Given the description of an element on the screen output the (x, y) to click on. 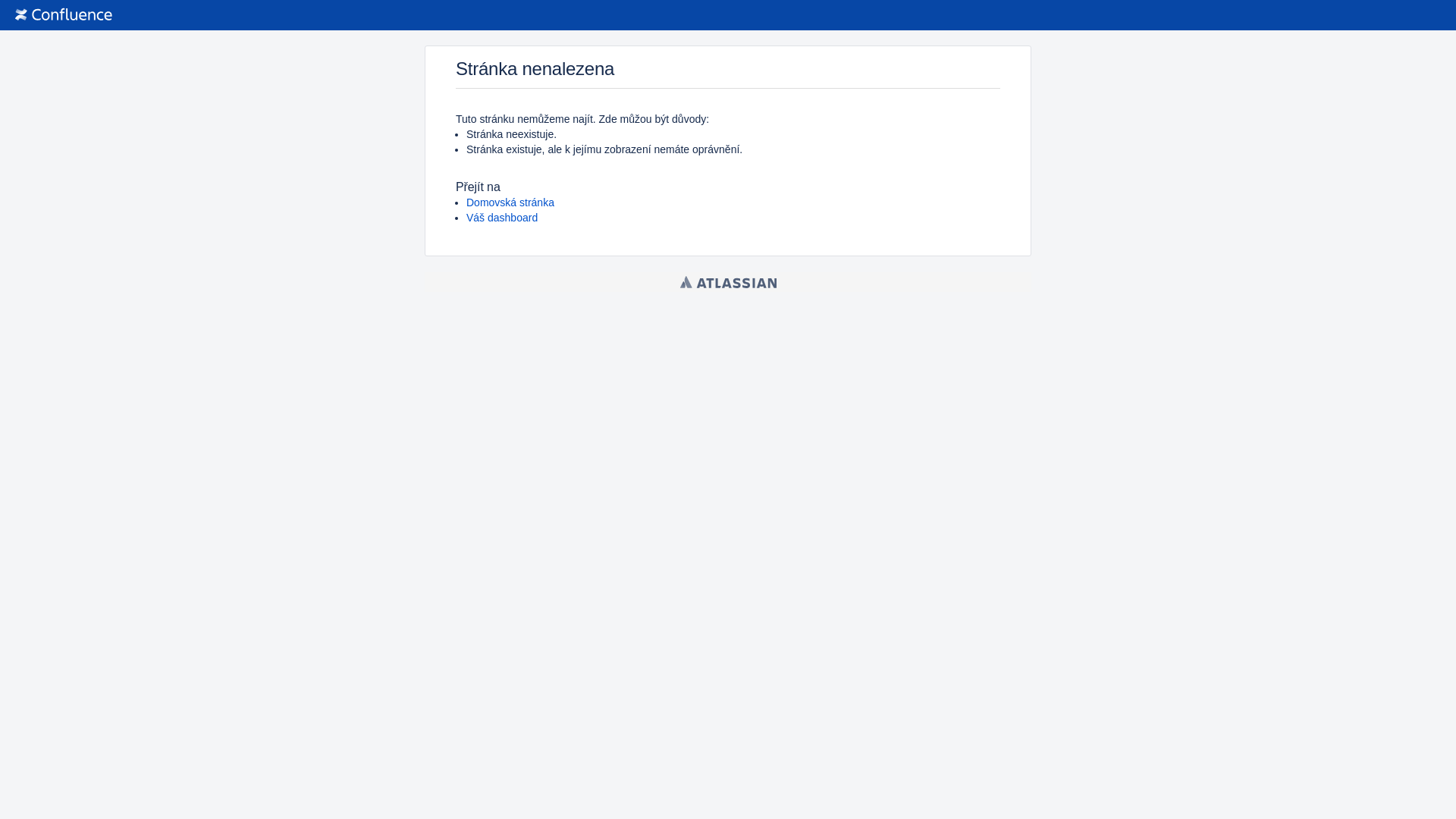
Atlassian Element type: text (727, 281)
Confluence Element type: text (63, 15)
